Given the description of an element on the screen output the (x, y) to click on. 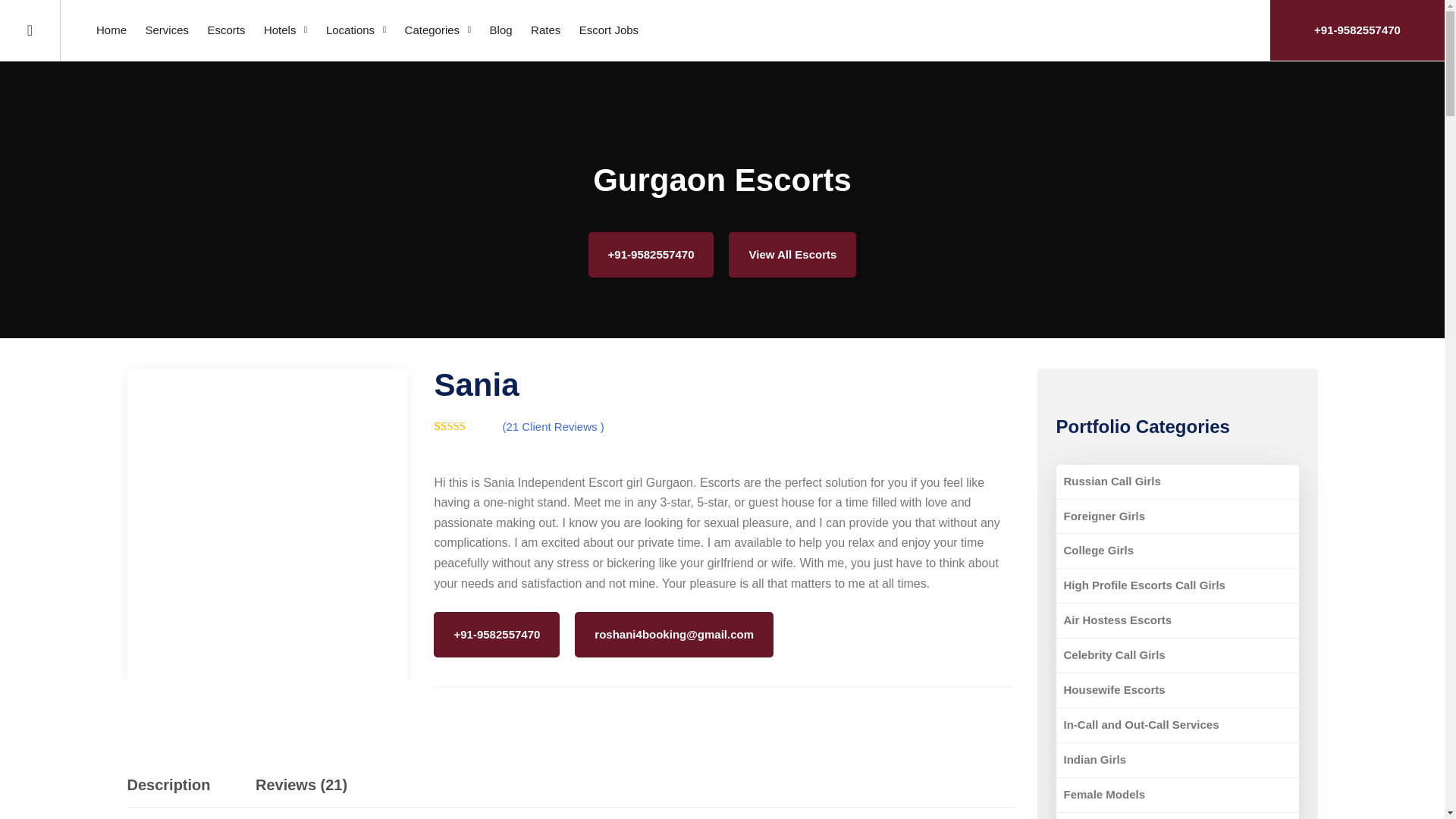
Categories (438, 30)
Locations (355, 30)
Services (166, 30)
Hotels (285, 30)
